Given the description of an element on the screen output the (x, y) to click on. 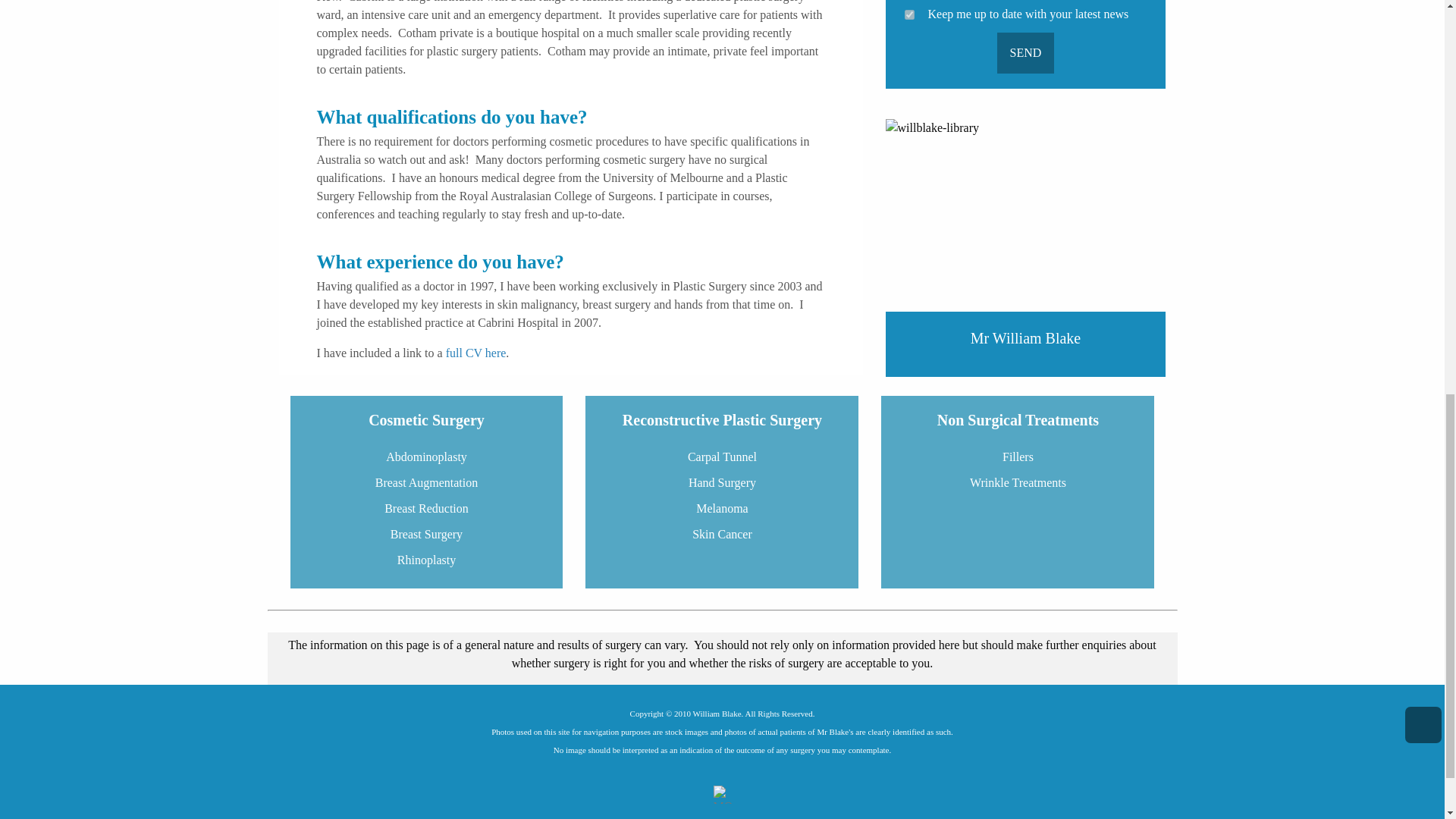
Melanoma (722, 508)
full CV here (475, 352)
Hand Surgery (722, 483)
Carpal Tunnel (722, 457)
Wrinkle Treatments (1017, 483)
SEND (1025, 52)
Yes (909, 14)
Breast Augmentation (426, 483)
Fillers (1017, 457)
Abdominoplasty (426, 457)
